Given the description of an element on the screen output the (x, y) to click on. 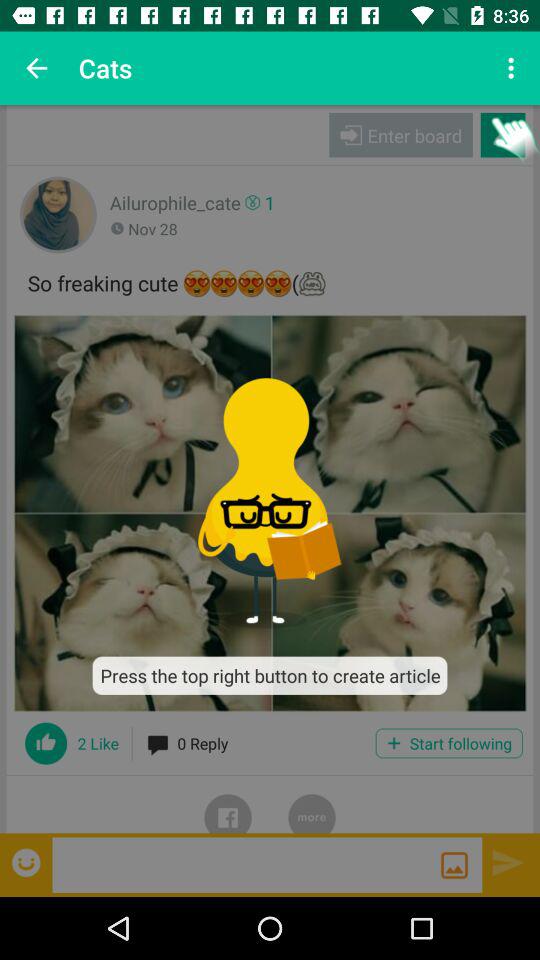
like photo (46, 743)
